Given the description of an element on the screen output the (x, y) to click on. 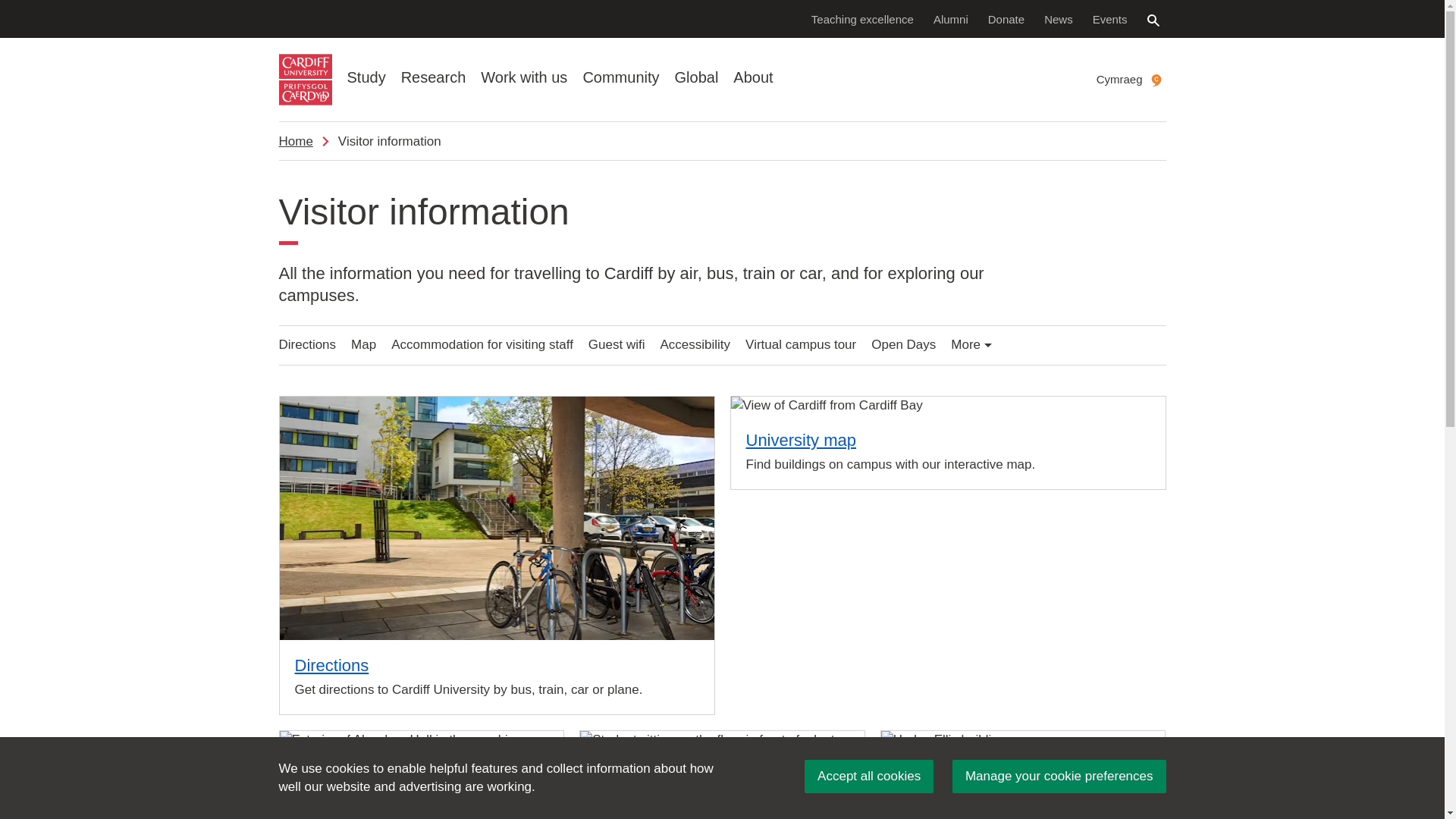
Search (1152, 20)
Alumni (951, 19)
cymraeg (1155, 80)
Teaching excellence (862, 19)
News (1058, 19)
Donate (1005, 19)
Cardiff University logo (305, 79)
Manage your cookie preferences (1059, 776)
Events (1109, 19)
Cardiff University logo (305, 79)
